Given the description of an element on the screen output the (x, y) to click on. 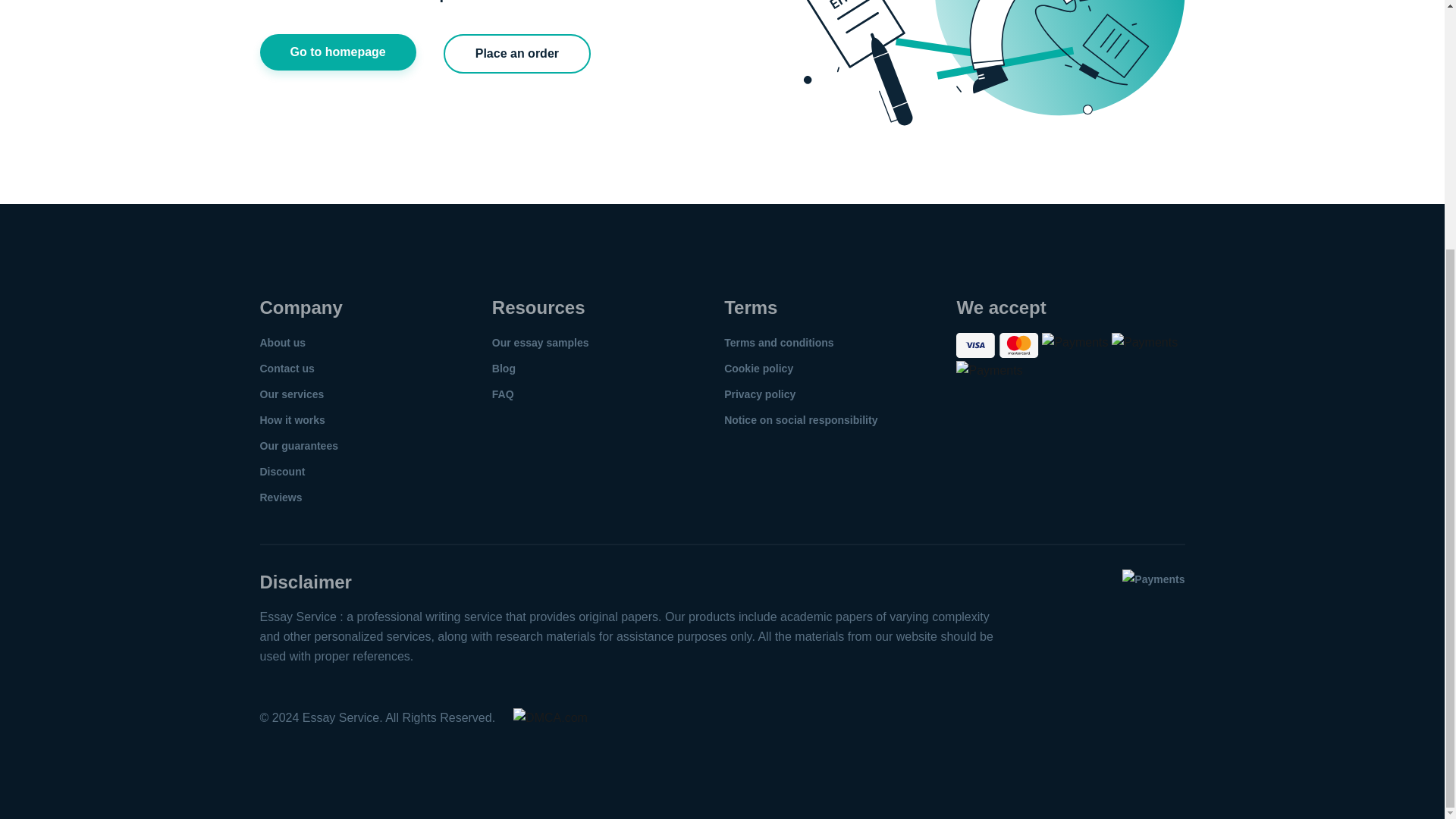
Blog (503, 368)
Go to homepage (336, 52)
Notice on social responsibility (800, 419)
Our guarantees (298, 445)
How it works (291, 419)
Place an order (517, 53)
Contact us (286, 368)
Our essay samples (540, 342)
FAQ (502, 394)
Our services (291, 394)
Reviews (280, 497)
Cookie policy (758, 368)
Terms and conditions (777, 342)
Privacy policy (758, 394)
About us (282, 342)
